Given the description of an element on the screen output the (x, y) to click on. 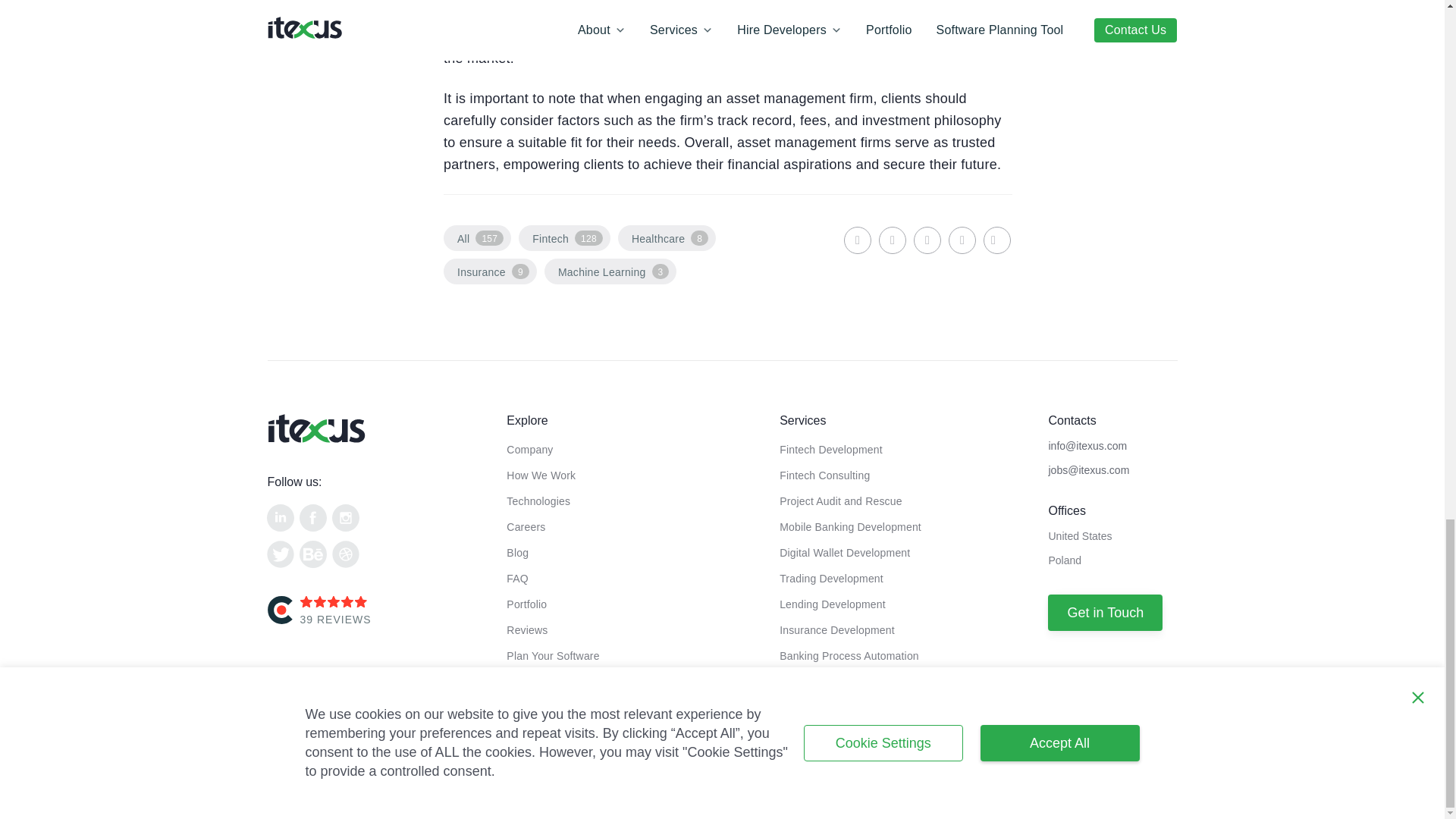
Share in Linkedin (857, 239)
Share in Reddit (962, 239)
Share in Twitter (927, 239)
Share in Facebook (892, 239)
Copy to Clipboard (997, 239)
